Given the description of an element on the screen output the (x, y) to click on. 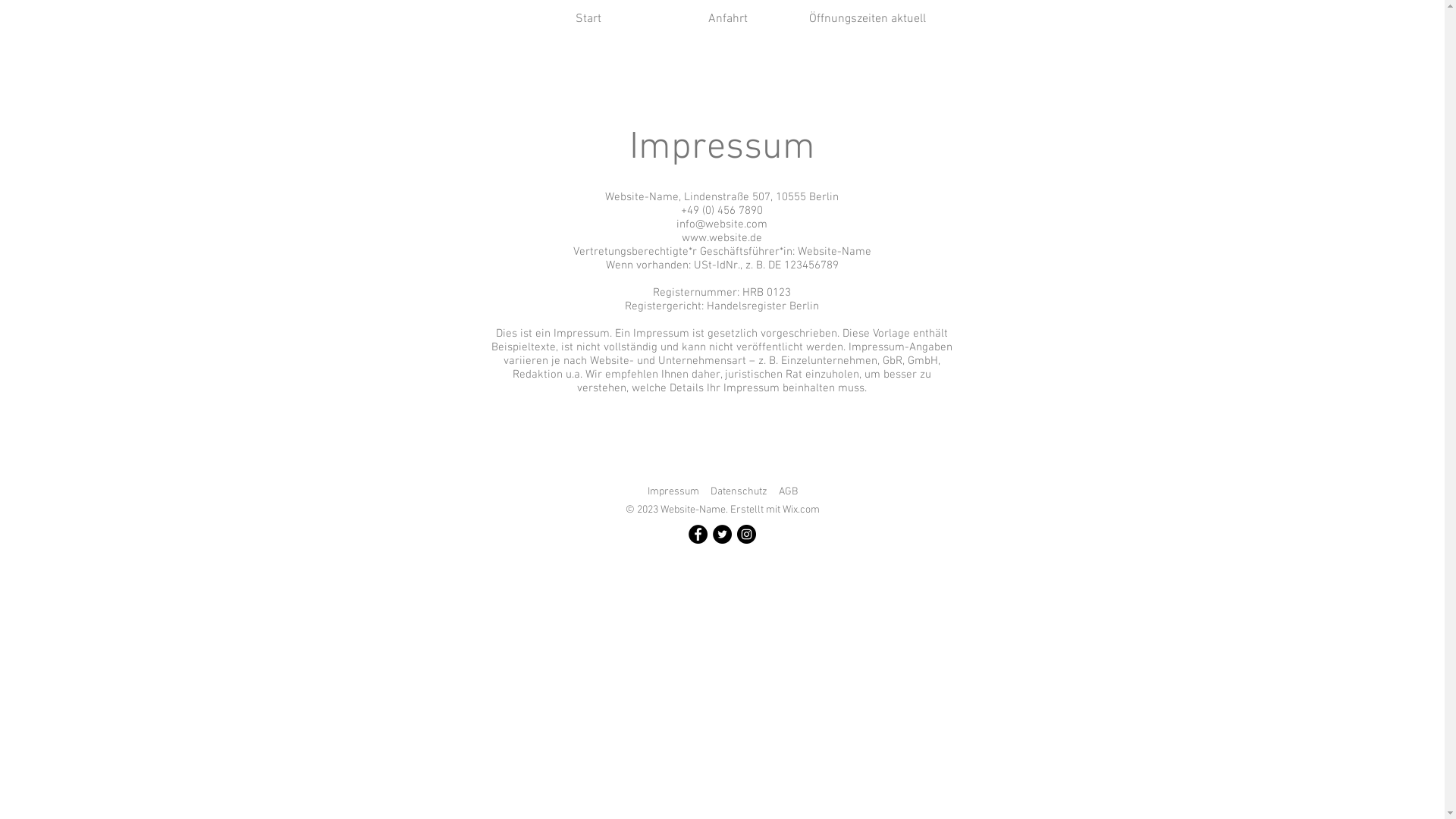
AGB Element type: text (787, 491)
Start Element type: text (588, 19)
www.website.de Element type: text (721, 237)
Wix.com Element type: text (800, 509)
Datenschutz Element type: text (737, 491)
Impressum Element type: text (673, 491)
info@website.com Element type: text (721, 224)
Anfahrt Element type: text (727, 19)
